Given the description of an element on the screen output the (x, y) to click on. 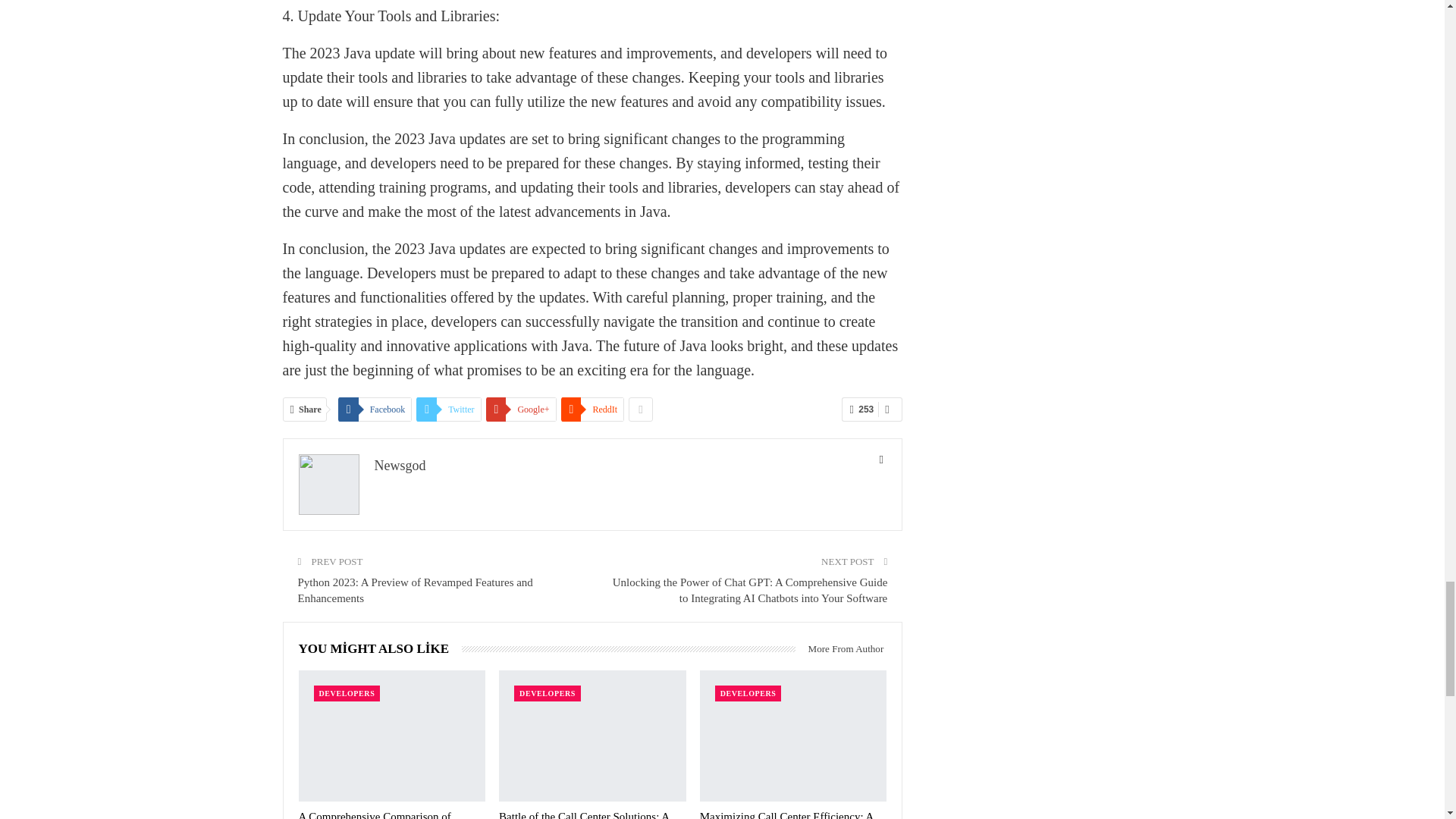
Twitter (448, 409)
ReddIt (592, 409)
YOU MIGHT ALSO LIKE (380, 648)
Facebook (374, 409)
Python 2023: A Preview of Revamped Features and Enhancements (414, 590)
Newsgod (400, 465)
More From Author (840, 649)
